Given the description of an element on the screen output the (x, y) to click on. 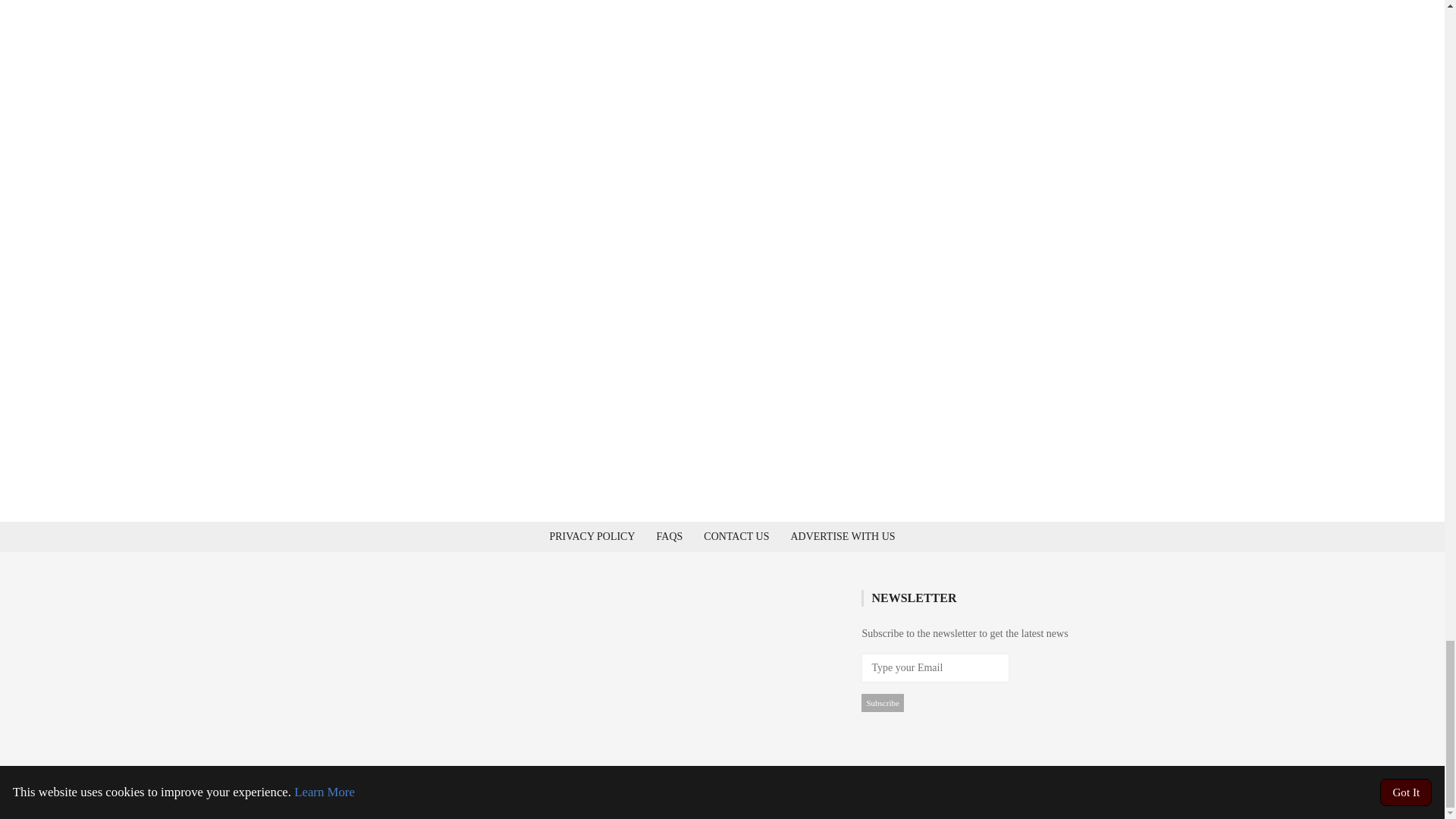
Subscribe (881, 702)
